Given the description of an element on the screen output the (x, y) to click on. 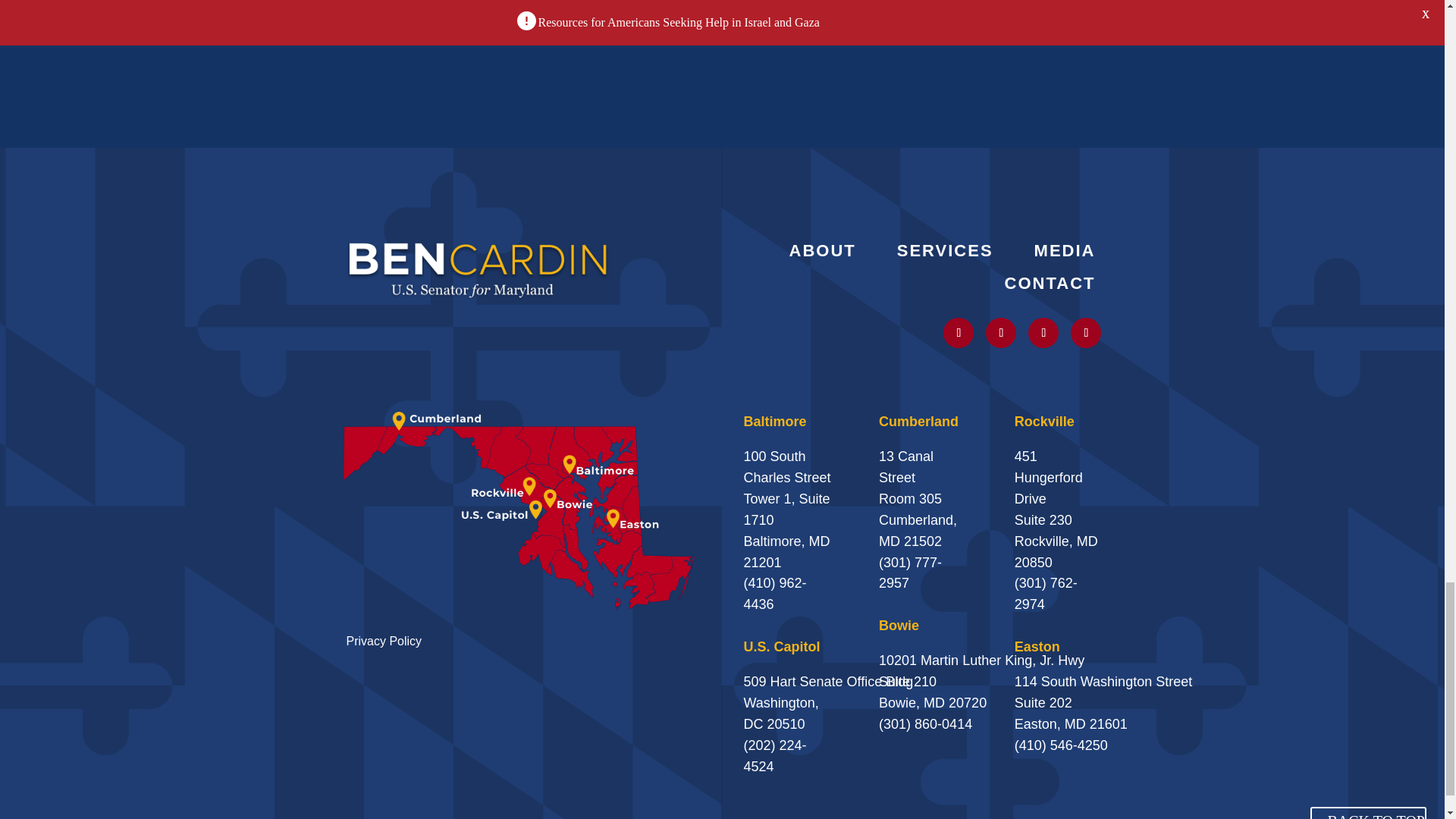
Follow on Youtube (1042, 332)
Follow on X (958, 332)
Follow on Facebook (1085, 332)
Footer (478, 268)
Follow on Instagram (1000, 332)
Privacy Policy (384, 640)
